Given the description of an element on the screen output the (x, y) to click on. 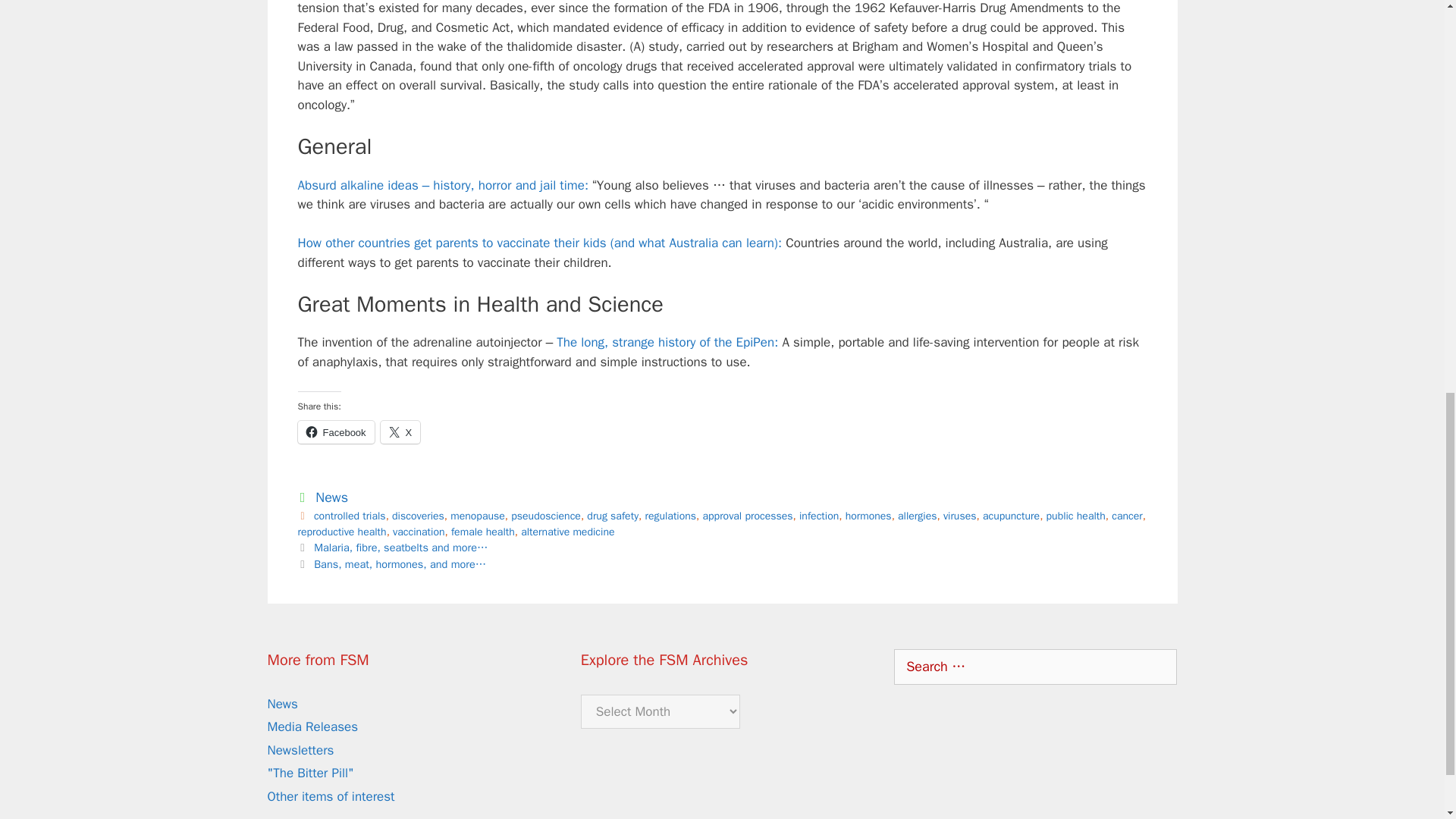
menopause (477, 515)
Click to share on X (400, 431)
infection (818, 515)
Search for: (1034, 667)
X (400, 431)
drug safety (612, 515)
News (331, 497)
Facebook (335, 431)
controlled trials (349, 515)
pseudoscience (545, 515)
